Given the description of an element on the screen output the (x, y) to click on. 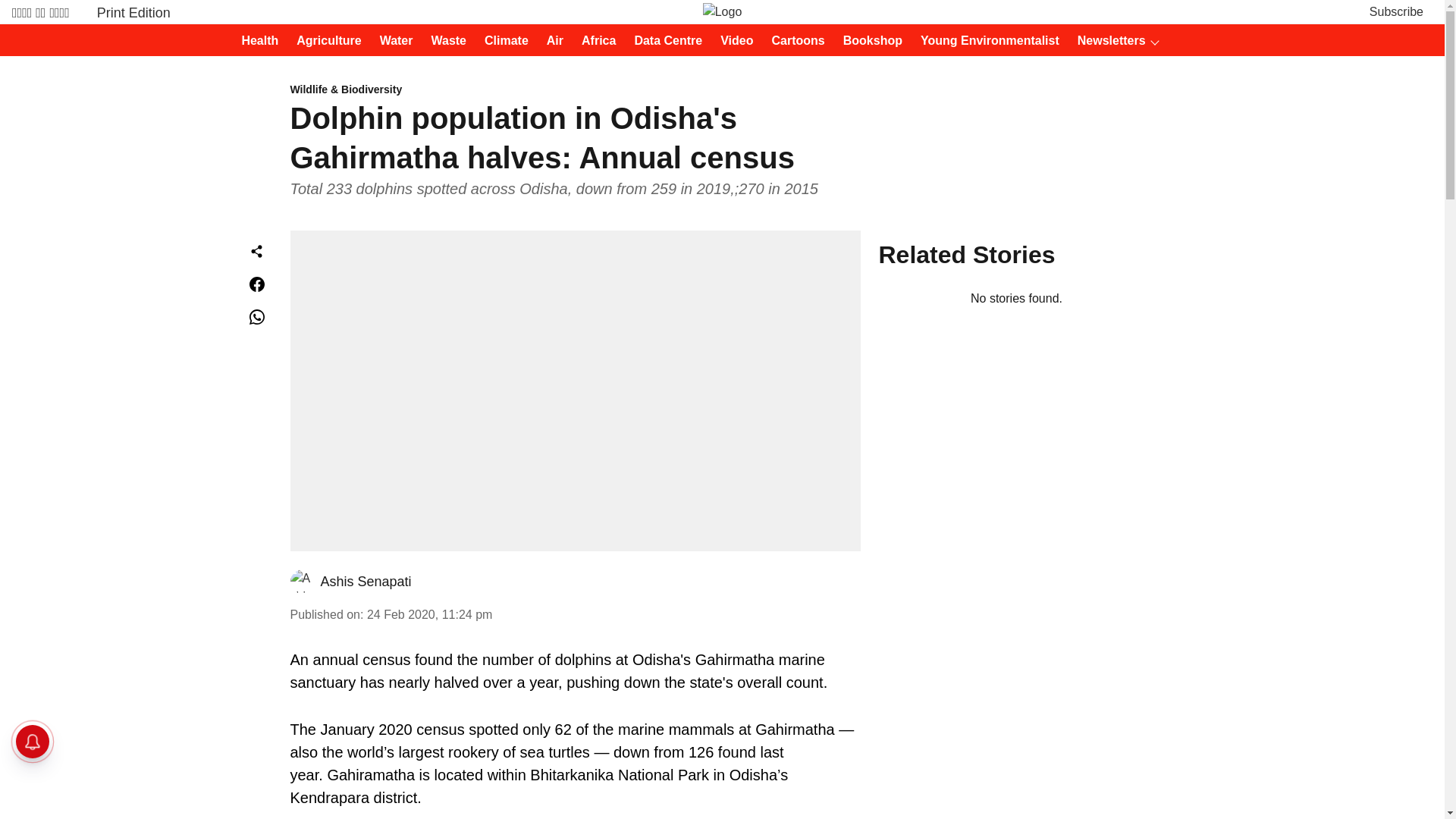
Cartoons (793, 40)
Africa (593, 40)
Climate (502, 40)
Young Environmentalist (985, 40)
Waste (443, 40)
Video (731, 40)
Bookshop (868, 40)
Water (392, 40)
Agriculture (323, 40)
Air (550, 40)
Health (254, 40)
Data Centre (662, 40)
2020-02-24 23:24 (429, 614)
Ashis Senapati (365, 581)
Print Edition (133, 12)
